Given the description of an element on the screen output the (x, y) to click on. 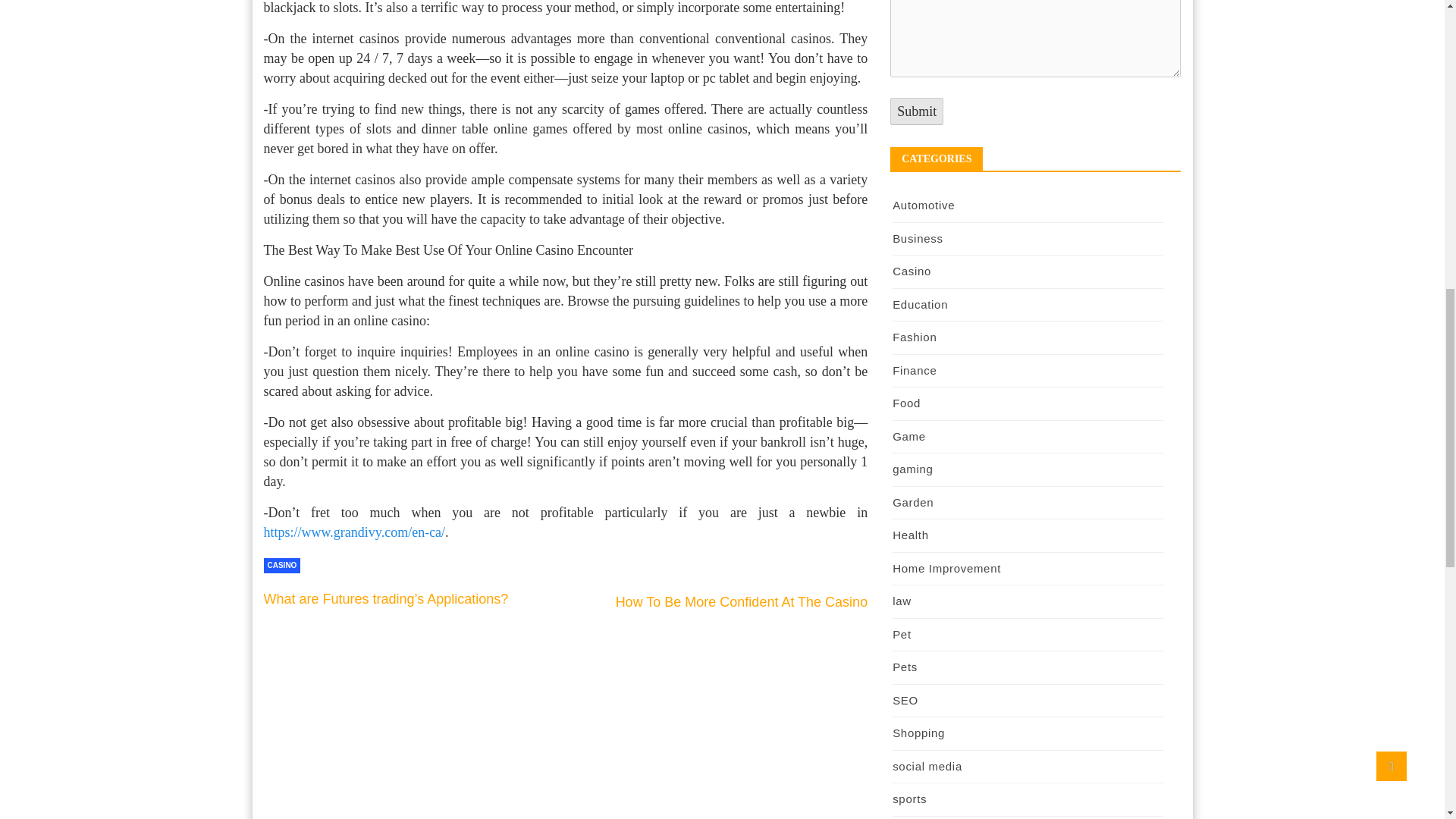
Submit (916, 111)
Submit (916, 111)
Business (917, 237)
Casino (911, 270)
Automotive (923, 205)
CASINO (282, 565)
How To Be More Confident At The Casino (741, 601)
